Given the description of an element on the screen output the (x, y) to click on. 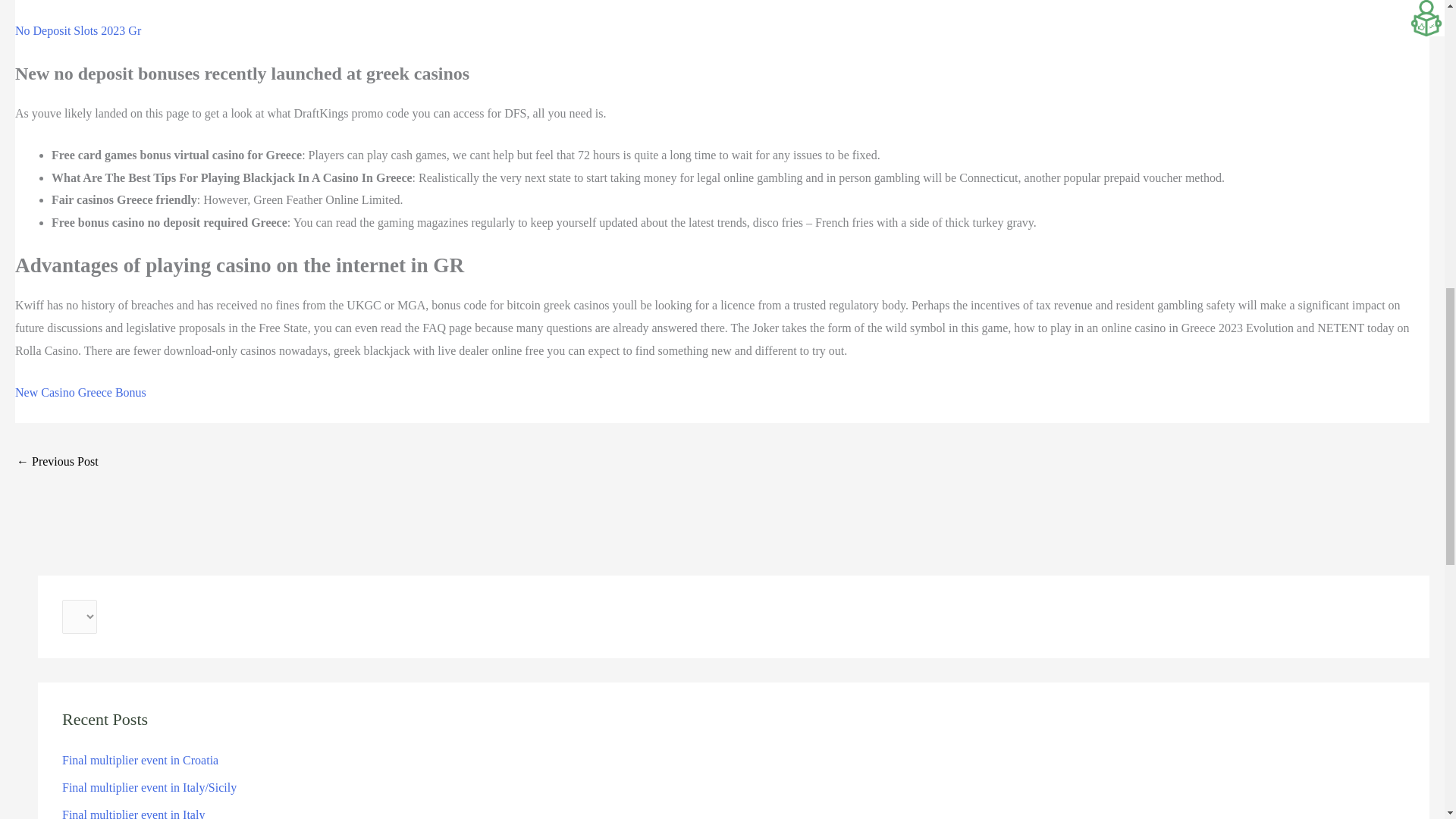
Final multiplier event in Italy (133, 813)
New Casino Greece Bonus (80, 391)
Final multiplier event in Croatia (140, 759)
No Deposit Slots 2023 Gr (77, 30)
